Given the description of an element on the screen output the (x, y) to click on. 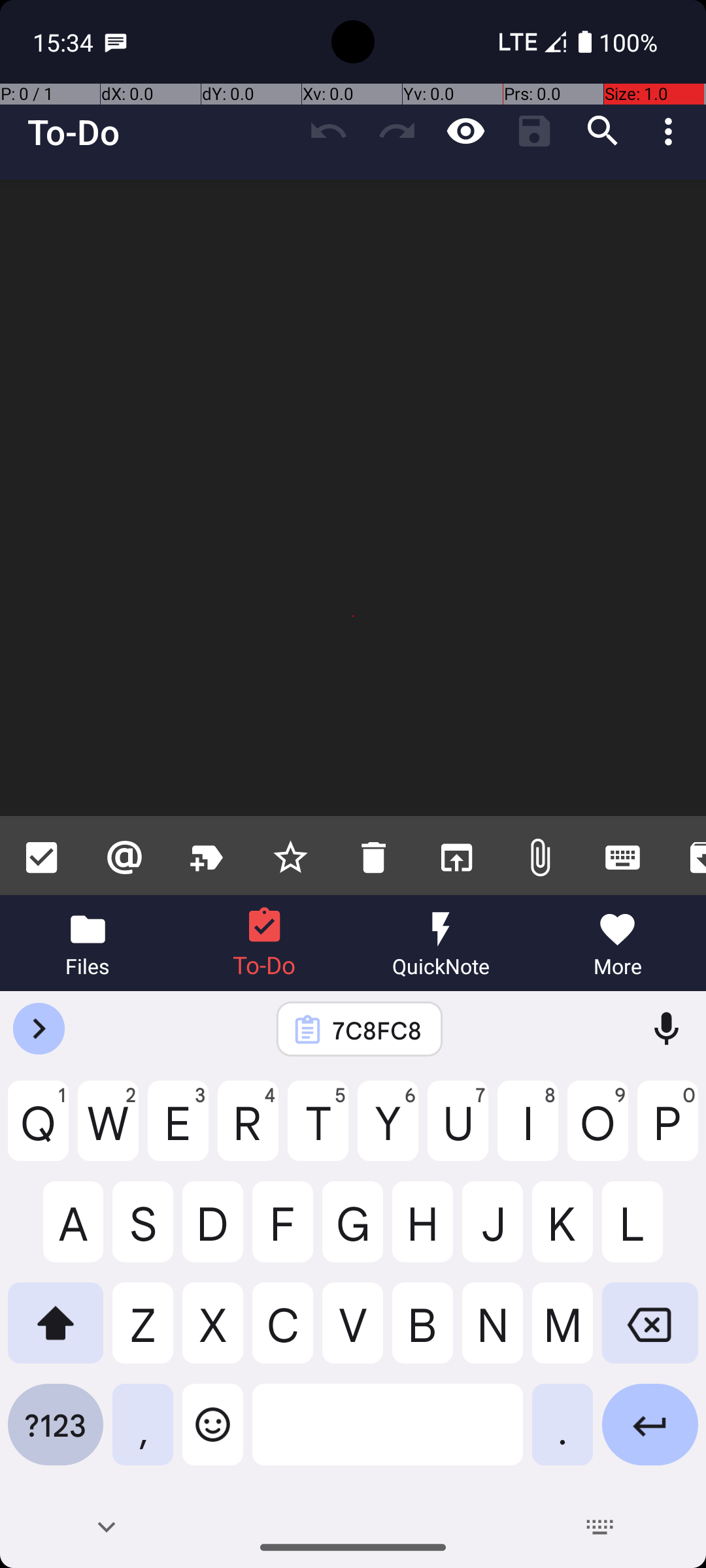
7C8FC8 Element type: android.widget.TextView (376, 1029)
